Given the description of an element on the screen output the (x, y) to click on. 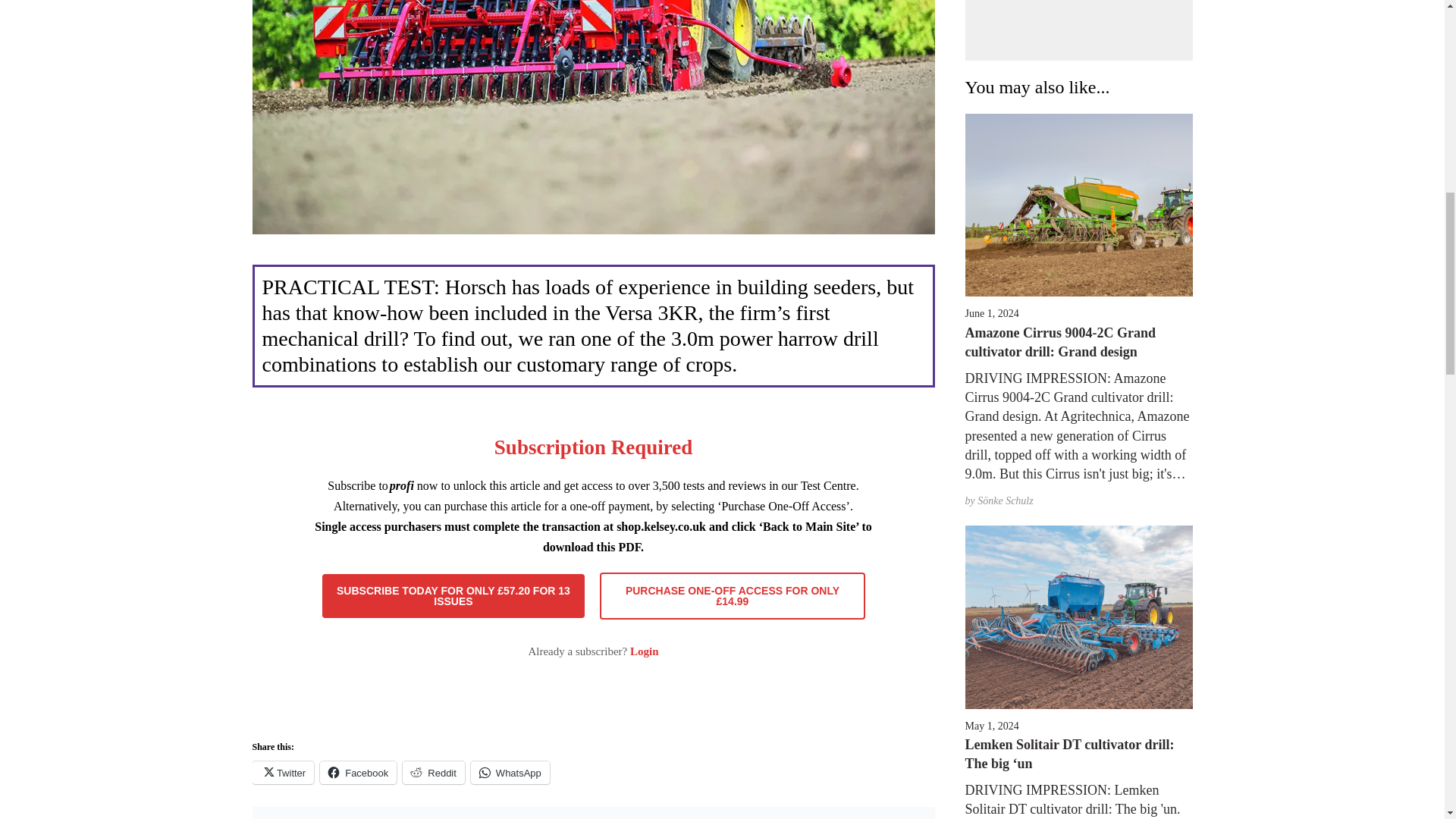
Click to share on Reddit (433, 772)
Click to share on Facebook (358, 772)
Click to share on Twitter (282, 772)
Click to share on WhatsApp (510, 772)
Login (644, 651)
